Given the description of an element on the screen output the (x, y) to click on. 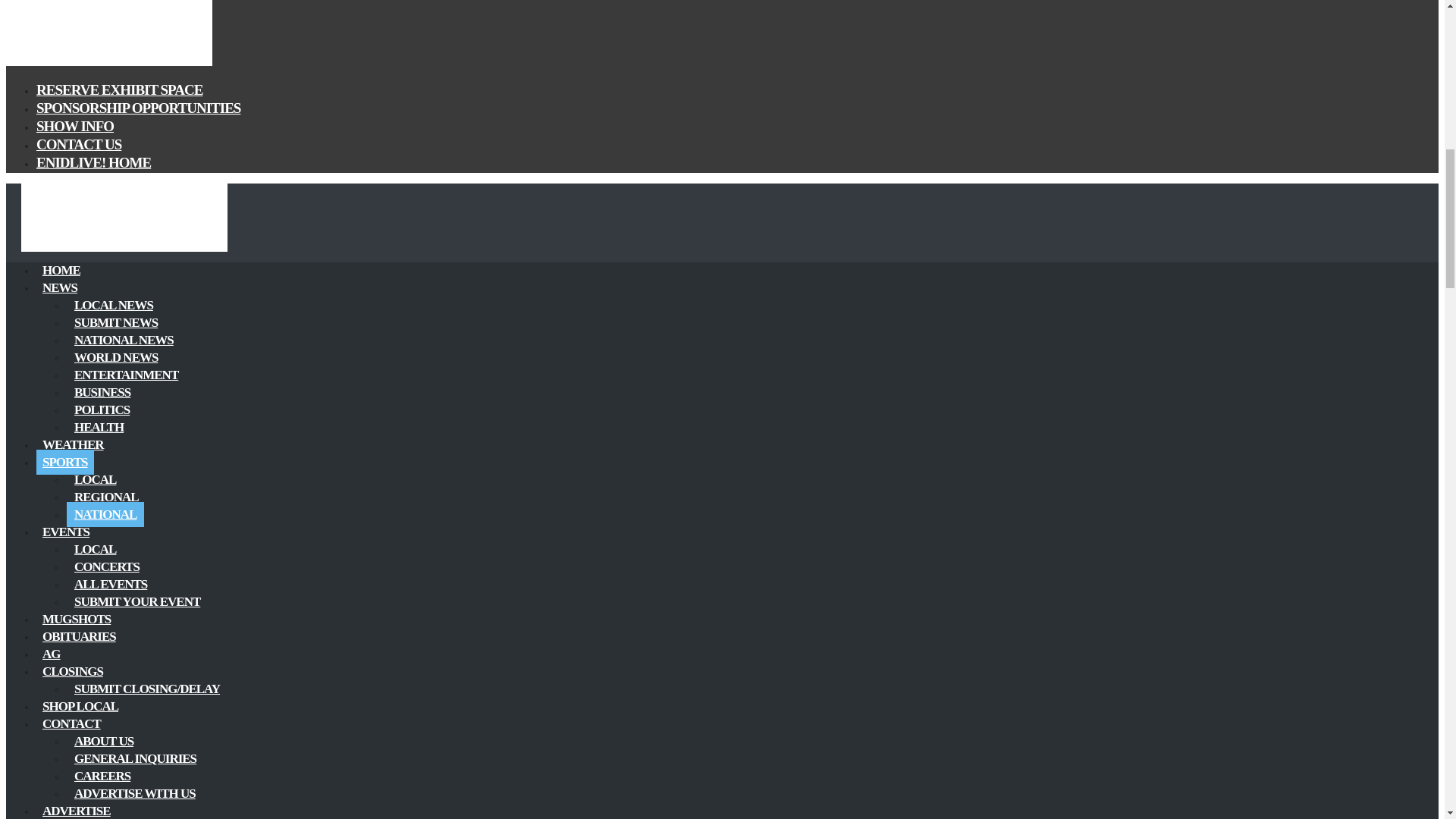
EnidLIVE! (108, 61)
